Given the description of an element on the screen output the (x, y) to click on. 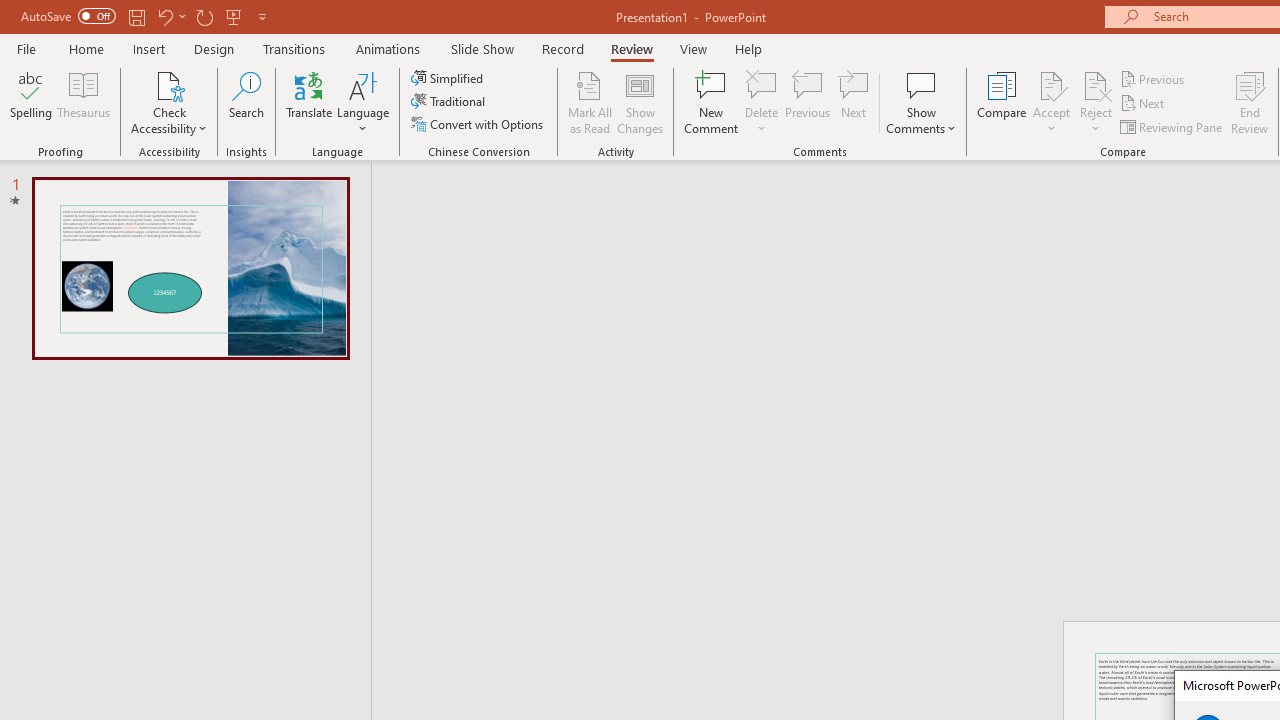
End Review (1249, 102)
Thesaurus... (83, 102)
Compare (1002, 102)
Translate (309, 102)
Reject Change (1096, 84)
Delete (762, 102)
Previous (1153, 78)
Language (363, 102)
